Given the description of an element on the screen output the (x, y) to click on. 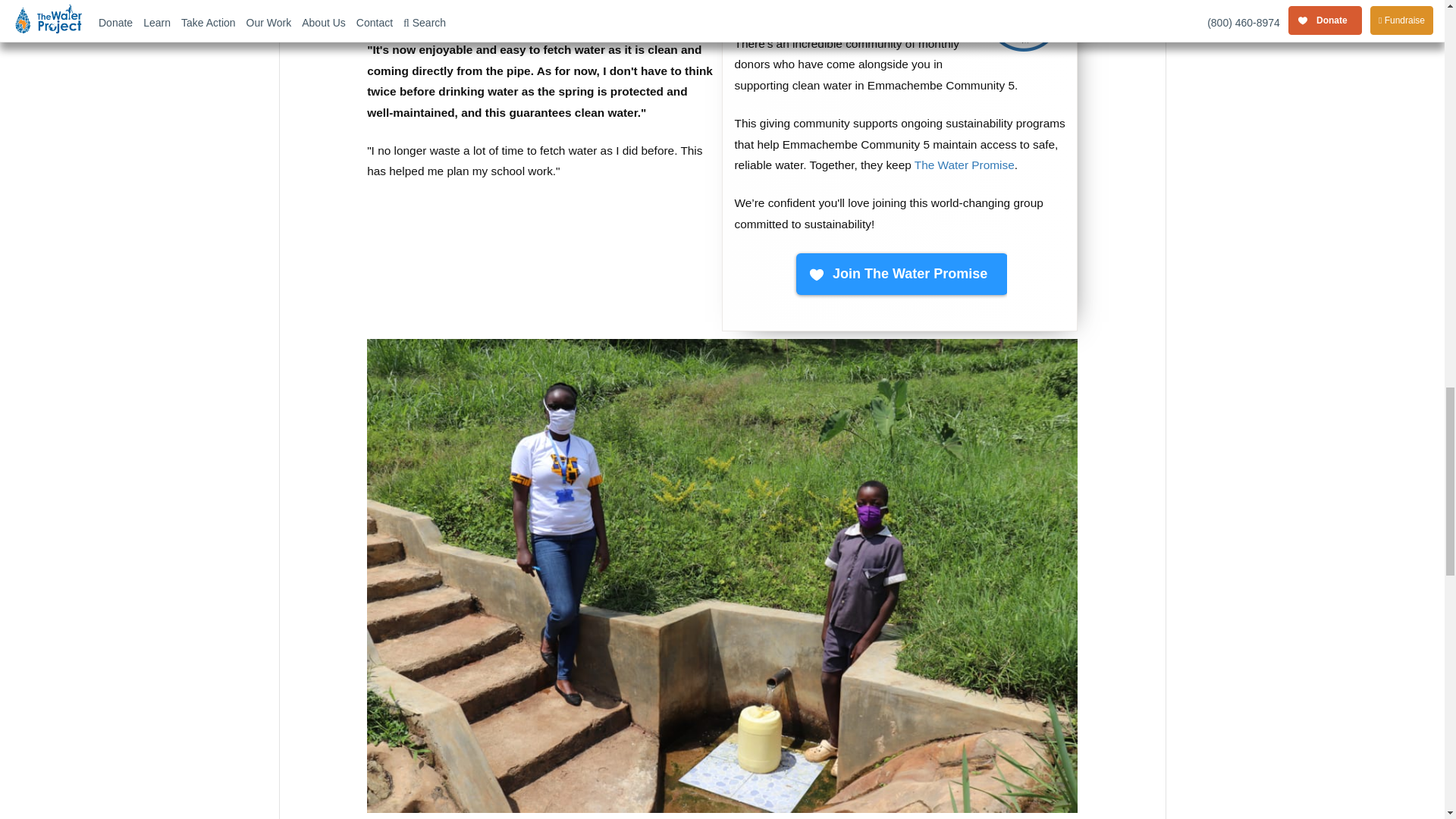
Donate Button (900, 274)
